Given the description of an element on the screen output the (x, y) to click on. 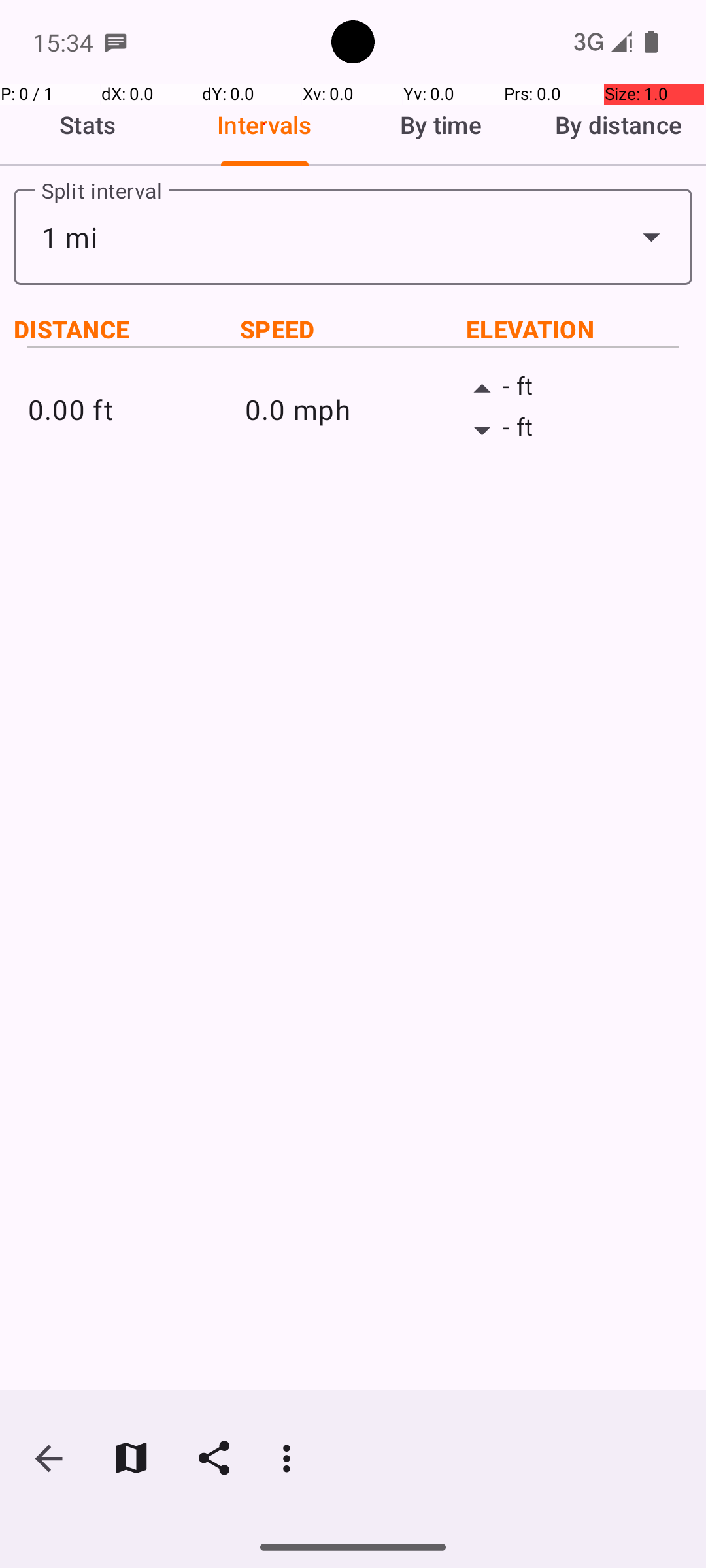
Stats Element type: android.widget.LinearLayout (88, 124)
Intervals Element type: android.widget.LinearLayout (264, 124)
By time Element type: android.widget.LinearLayout (441, 124)
By distance Element type: android.widget.LinearLayout (617, 124)
Show on map Element type: android.widget.Button (130, 1458)
1 mi Element type: android.widget.Spinner (352, 236)
Show dropdown menu Element type: android.widget.ImageButton (650, 236)
DISTANCE Element type: android.widget.TextView (126, 328)
SPEED Element type: android.widget.TextView (352, 328)
ELEVATION Element type: android.widget.TextView (579, 328)
0.00 ft Element type: android.widget.TextView (135, 408)
0.0 mph Element type: android.widget.TextView (352, 408)
- ft Element type: android.widget.TextView (569, 388)
